Given the description of an element on the screen output the (x, y) to click on. 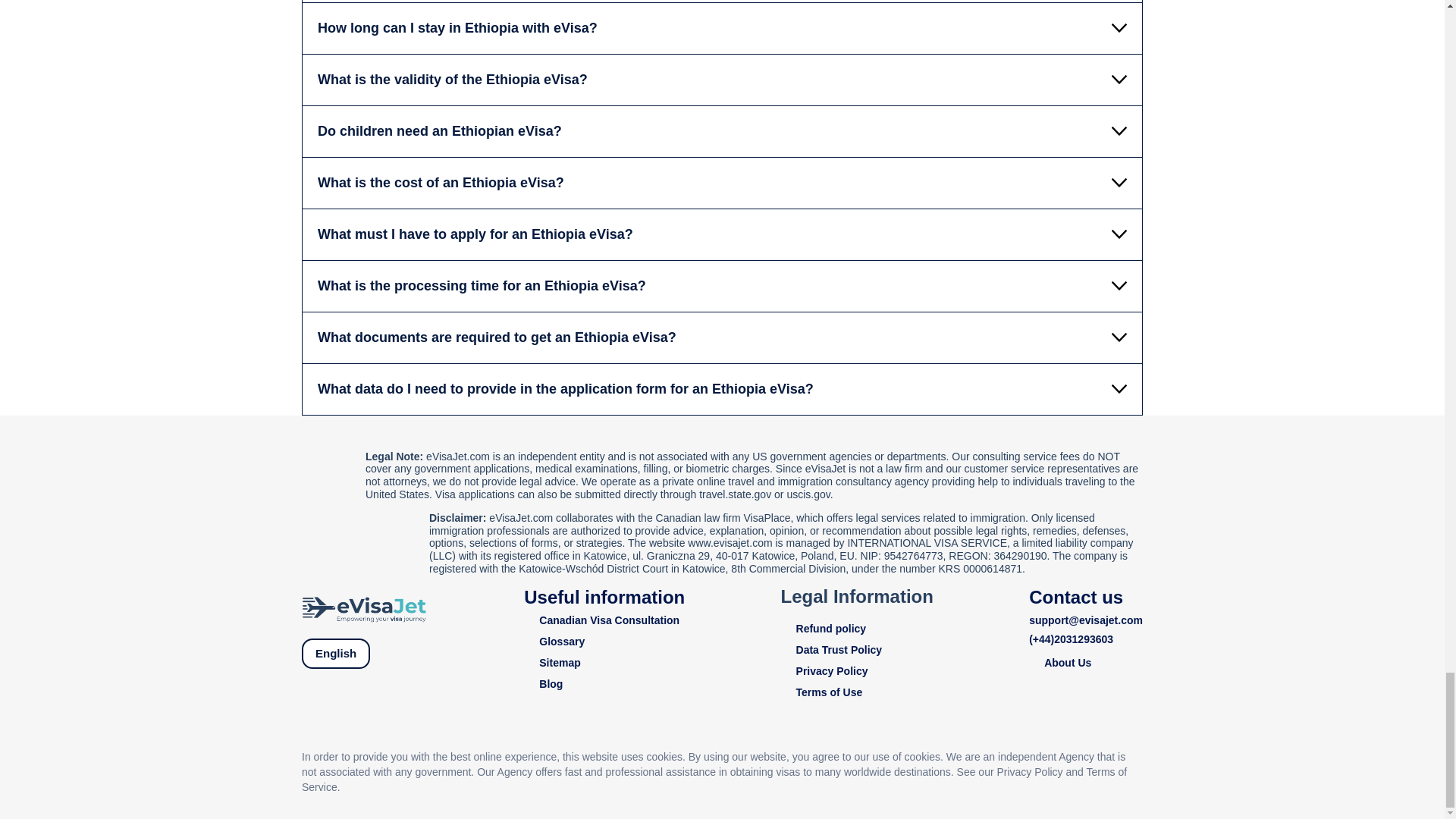
Blog (604, 684)
Sitemap (604, 662)
Refund policy (856, 628)
Privacy Policy (856, 671)
Terms of Use (856, 692)
Data Trust Policy (856, 649)
Canadian Visa Consultation (604, 620)
Glossary (604, 641)
